Given the description of an element on the screen output the (x, y) to click on. 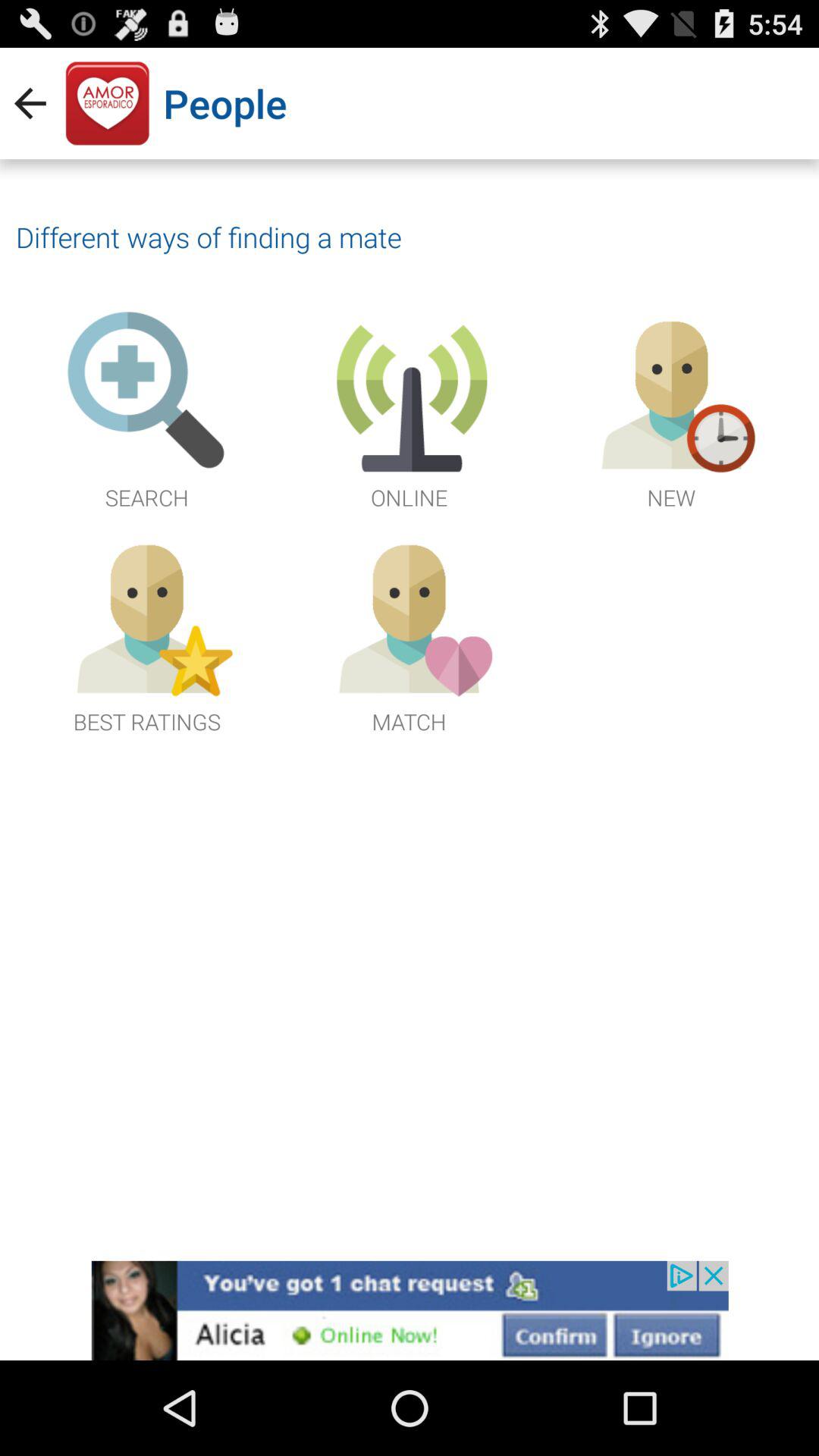
click on the third image next to online (671, 410)
click on the second image in the second row (409, 634)
select the best ratings icon (146, 634)
click on the online icon (409, 410)
